Given the description of an element on the screen output the (x, y) to click on. 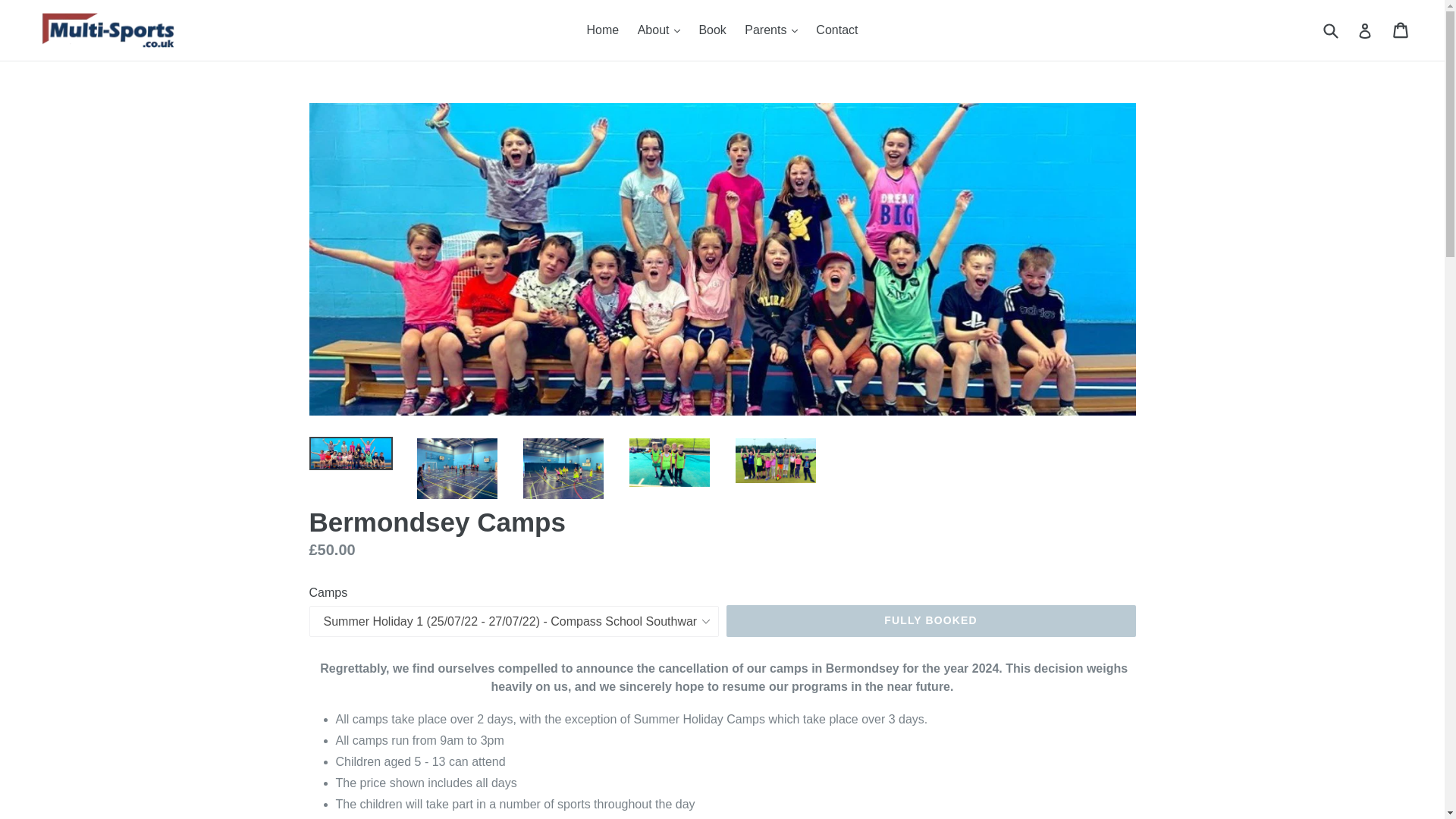
Log in (1364, 30)
Contact (836, 29)
Book (711, 29)
Home (603, 29)
Submit (1329, 29)
